Given the description of an element on the screen output the (x, y) to click on. 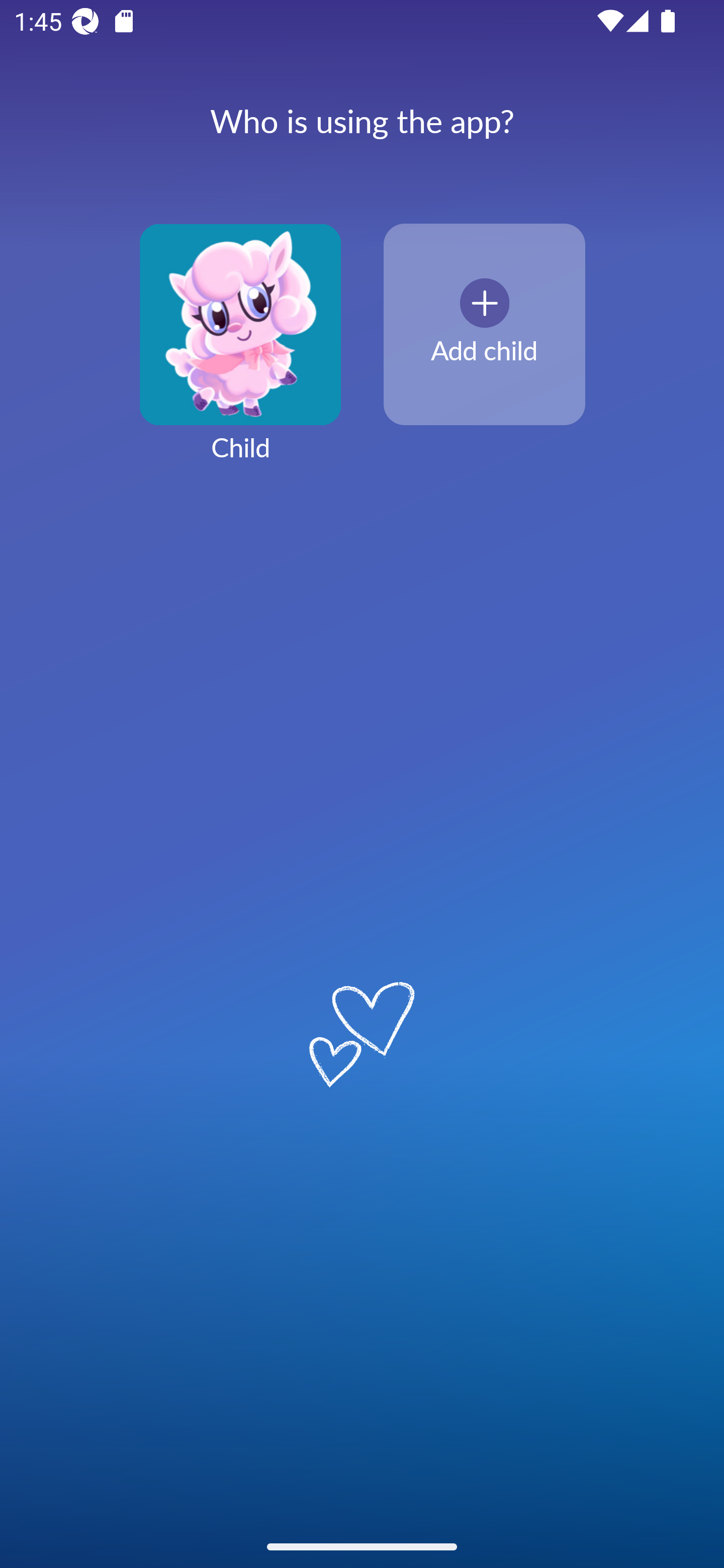
Child (240, 354)
Add child (483, 324)
